Given the description of an element on the screen output the (x, y) to click on. 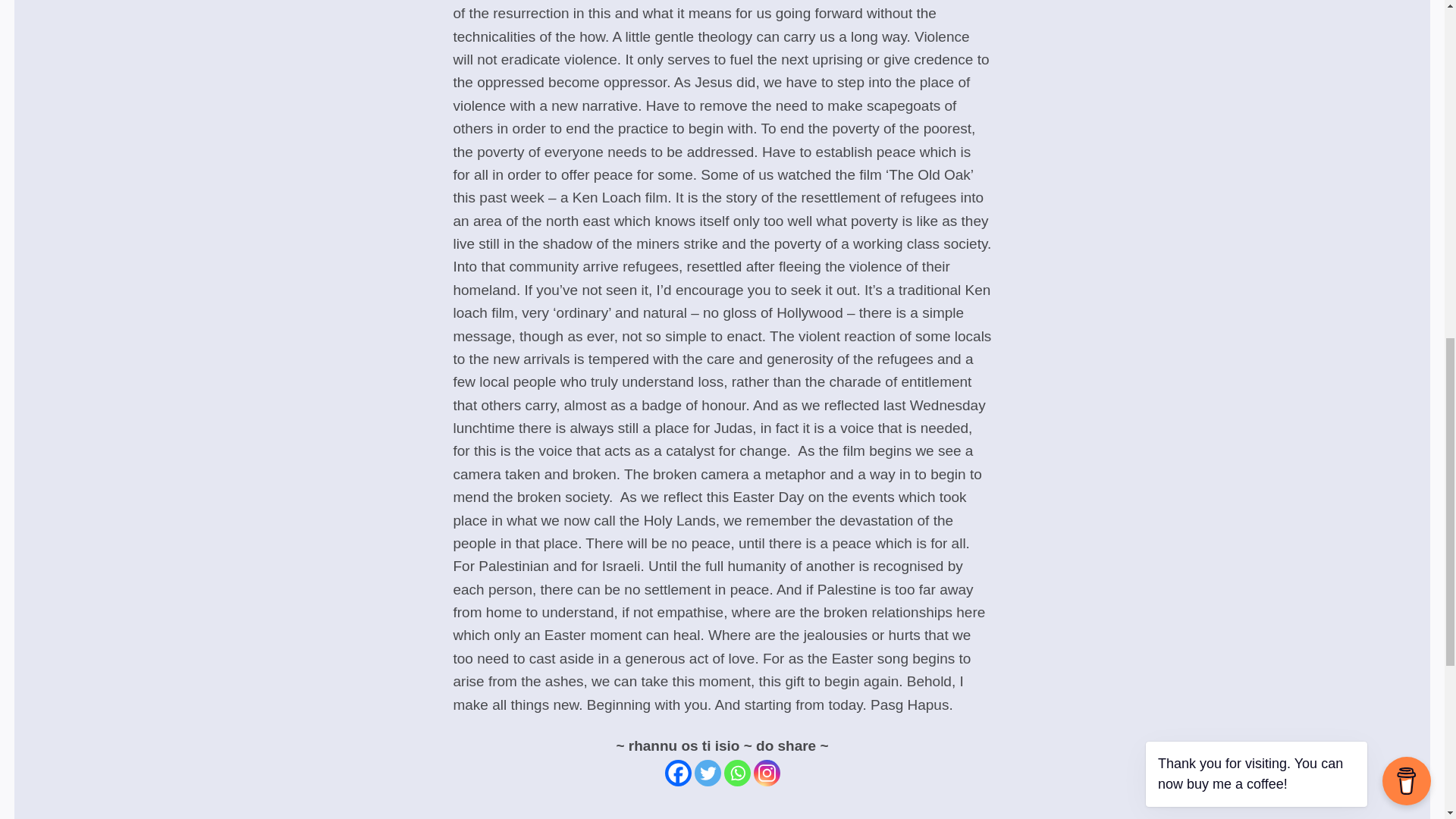
Whatsapp (736, 773)
Instagram (767, 773)
Twitter (707, 773)
Facebook (676, 773)
